Given the description of an element on the screen output the (x, y) to click on. 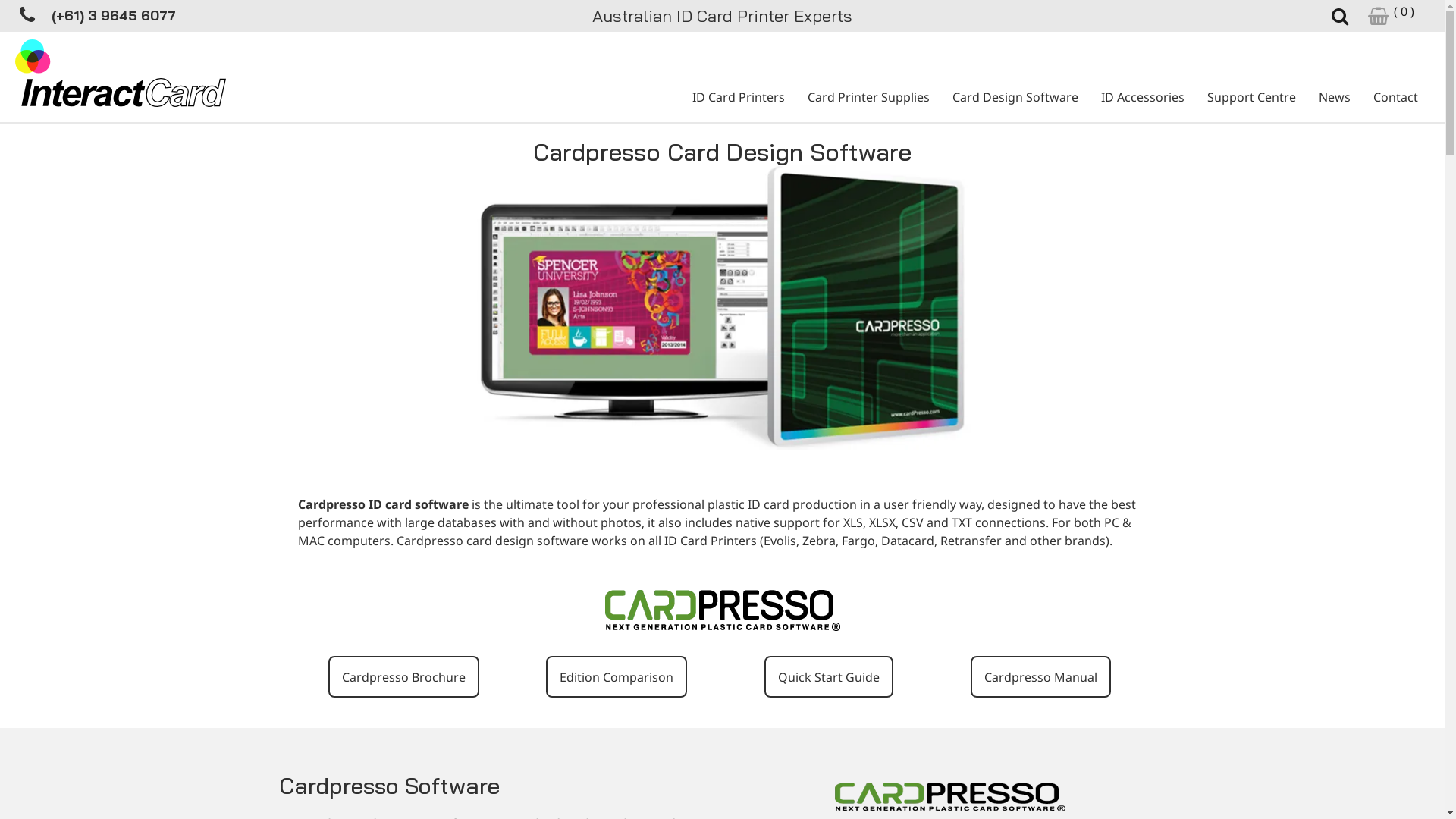
ID Accessories Element type: text (1142, 96)
Cardpresso Manual Element type: text (1040, 676)
News Element type: text (1334, 96)
Support Centre Element type: text (1251, 96)
Quick Start Guide Element type: text (828, 676)
ID Card Printers Element type: text (738, 96)
Edition Comparison Element type: text (616, 676)
Card Design Software Element type: text (1015, 96)
(+61) 3 9645 6077 Element type: text (113, 15)
Card Printer Supplies Element type: text (868, 96)
Cardpresso Brochure Element type: text (403, 676)
( 0 ) Element type: text (1392, 15)
Contact Element type: text (1395, 96)
